Given the description of an element on the screen output the (x, y) to click on. 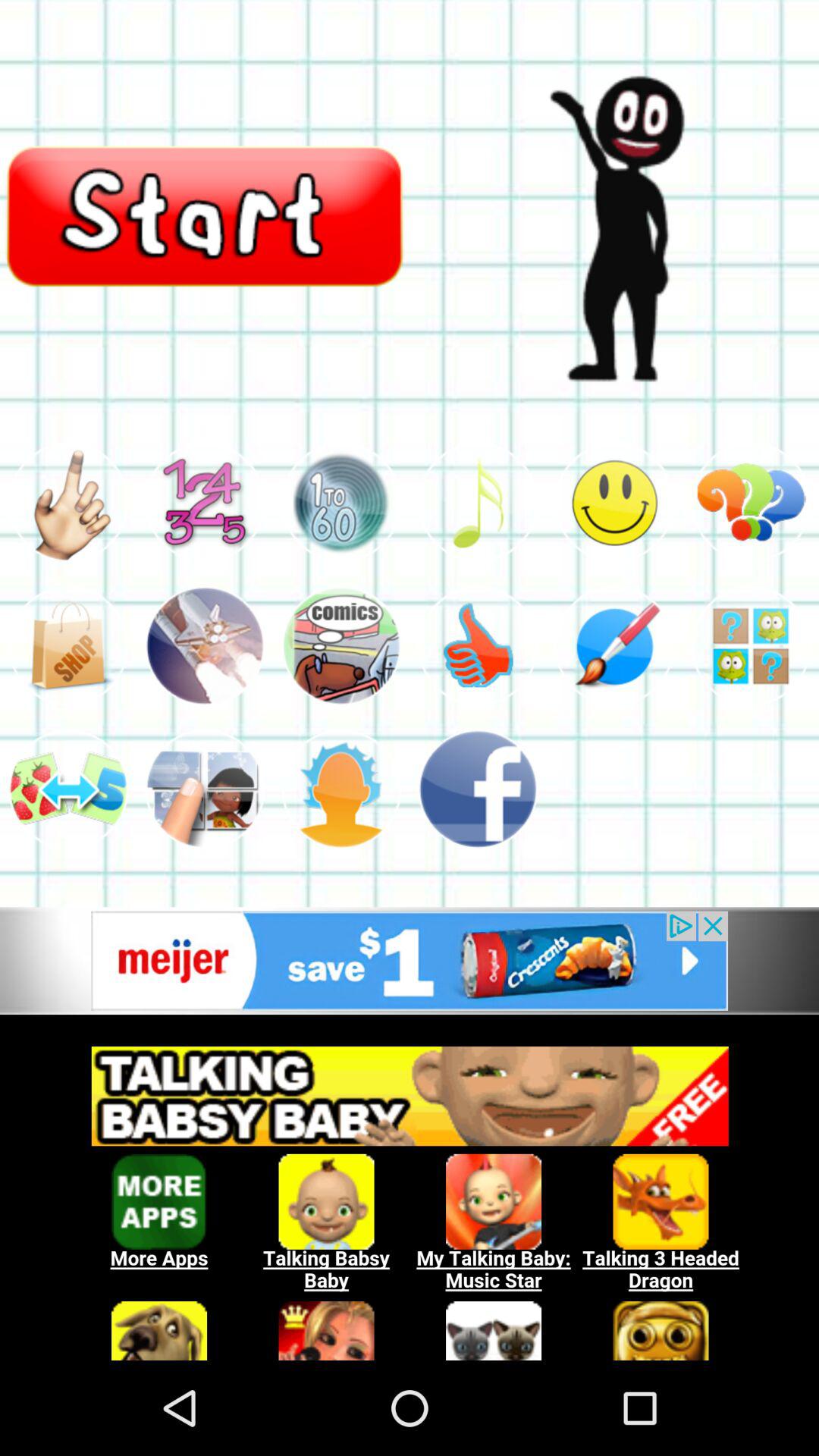
open app (341, 645)
